Given the description of an element on the screen output the (x, y) to click on. 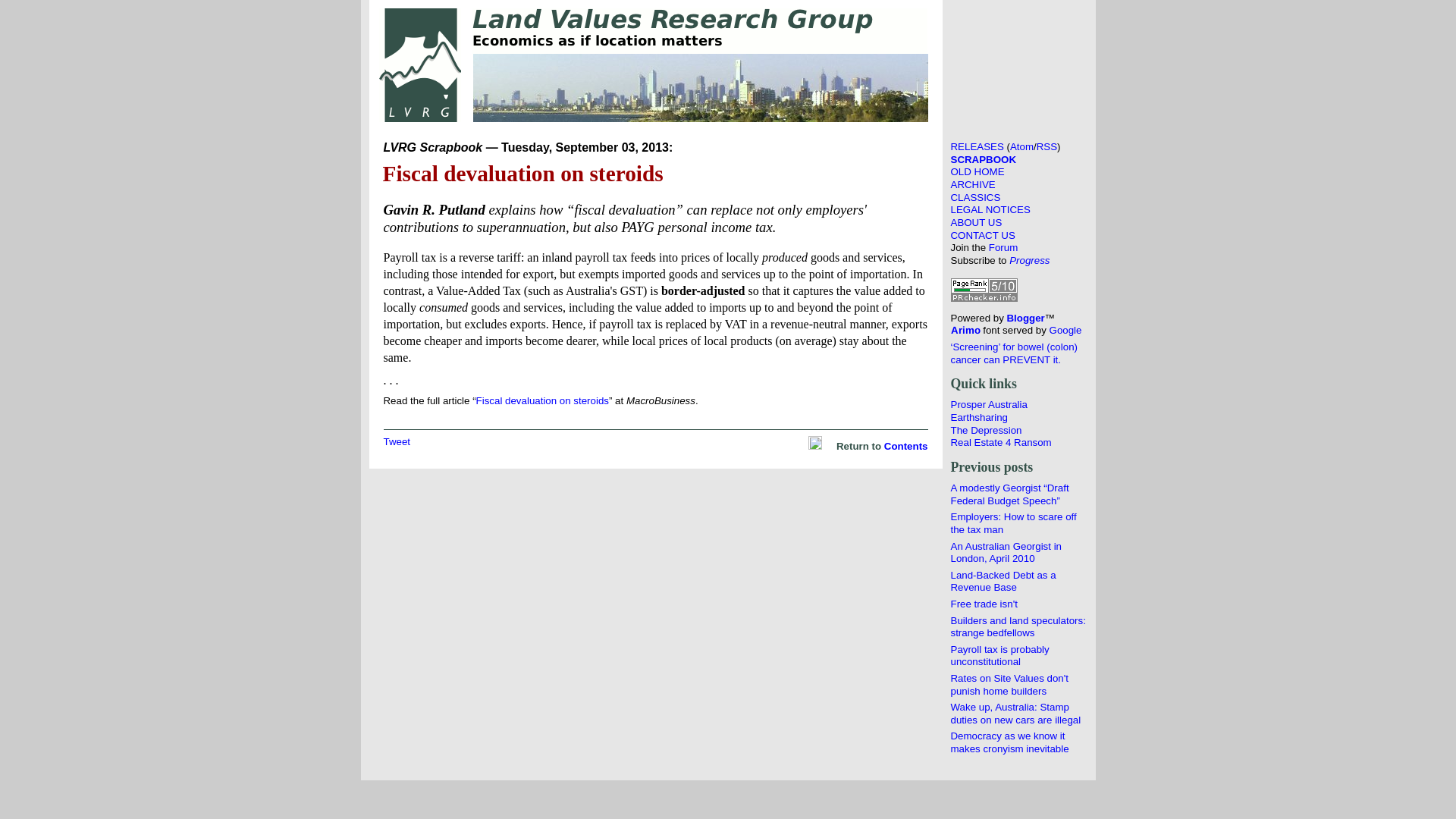
Payroll tax is probably unconstitutional Element type: text (999, 655)
ABOUT US Element type: text (976, 222)
LEGAL NOTICES Element type: text (990, 209)
Email Post Element type: hover (801, 445)
Rates on Site Values don't punish home builders Element type: text (1009, 684)
Contents Element type: text (906, 445)
CONTACT US Element type: text (982, 235)
Tweet Element type: text (397, 441)
Arimo Element type: text (965, 329)
Fiscal devaluation on steroids Element type: text (542, 400)
Prosper Australia Element type: text (988, 404)
Google Element type: text (1065, 329)
Forum Element type: text (1002, 247)
OLD HOME Element type: text (977, 171)
Atom Element type: text (1021, 146)
Earthsharing Element type: text (978, 417)
ARCHIVE Element type: text (972, 184)
Wake up, Australia: Stamp duties on new cars are illegal Element type: text (1015, 713)
Free trade isn't Element type: text (983, 603)
Employers: How to scare off the tax man Element type: text (1013, 523)
Democracy as we know it makes cronyism inevitable Element type: text (1009, 742)
Blogger Element type: text (1025, 317)
RSS Element type: text (1046, 146)
Land-Backed Debt as a Revenue Base Element type: text (1003, 581)
RELEASES Element type: text (977, 146)
Progress Element type: text (1029, 260)
The Depression Element type: text (986, 430)
CLASSICS Element type: text (975, 197)
An Australian Georgist in London, April 2010 Element type: text (1006, 551)
Builders and land speculators: strange bedfellows Element type: text (1017, 627)
Advertisement Element type: hover (1018, 65)
SCRAPBOOK Element type: text (983, 159)
Real Estate 4 Ransom Element type: text (1000, 442)
Edit Post Element type: hover (815, 445)
Photo credit Element type: hover (700, 87)
